Given the description of an element on the screen output the (x, y) to click on. 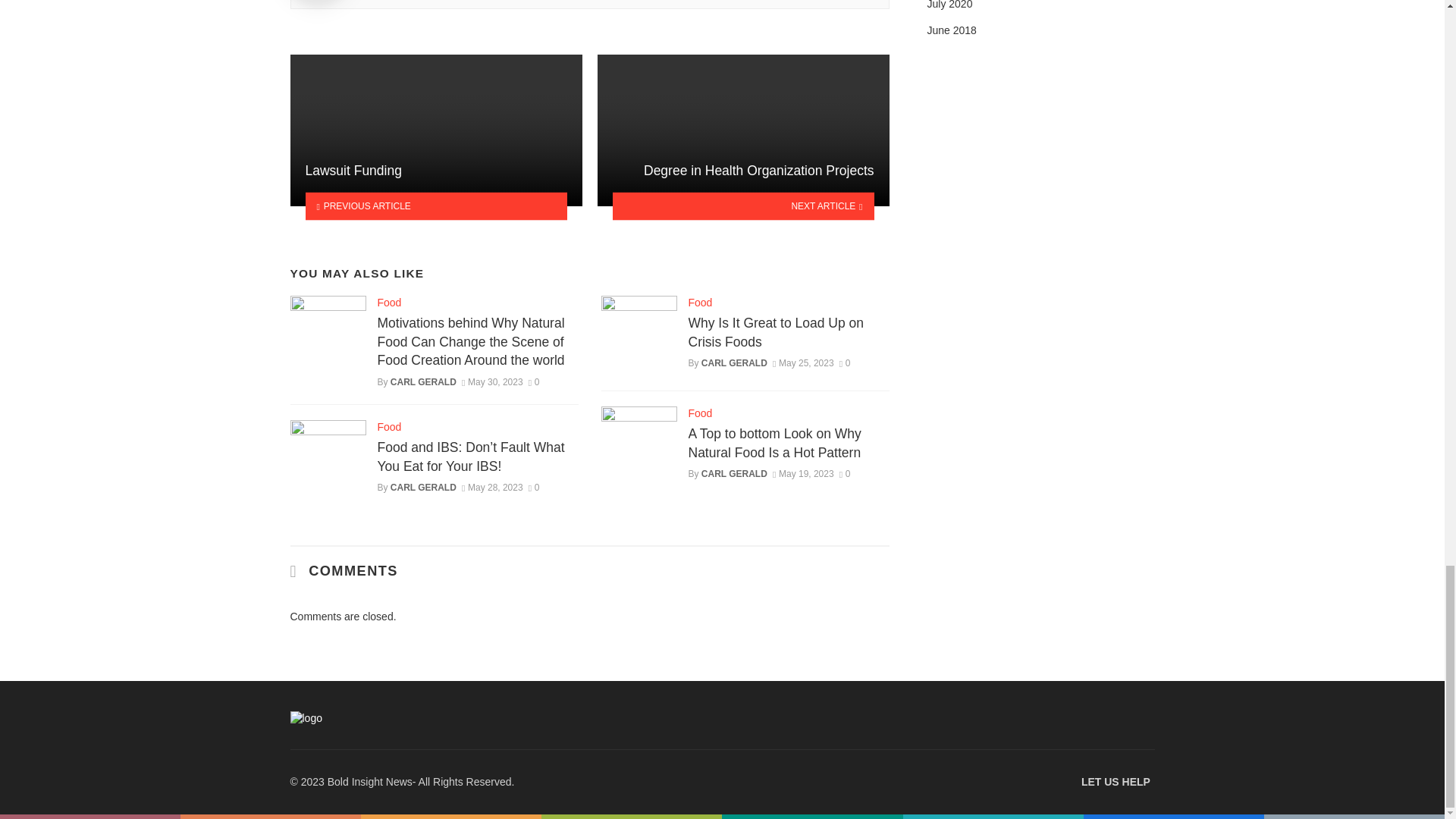
NEXT ARTICLE (742, 205)
PREVIOUS ARTICLE (434, 205)
May 30, 2023 at 8:28 am (491, 381)
